Given the description of an element on the screen output the (x, y) to click on. 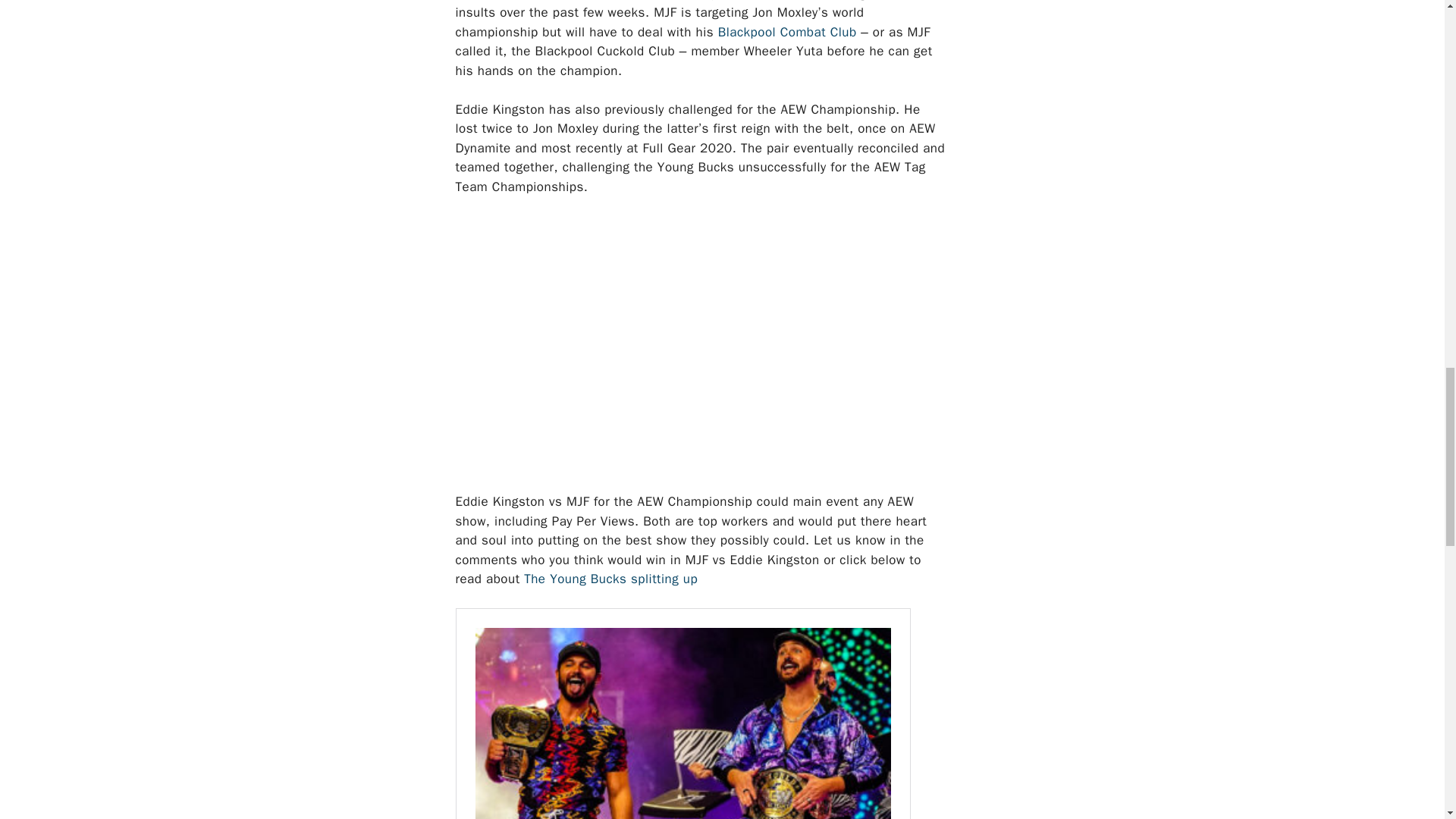
Blackpool Combat Club (787, 32)
The Young Bucks splitting up (610, 578)
